Given the description of an element on the screen output the (x, y) to click on. 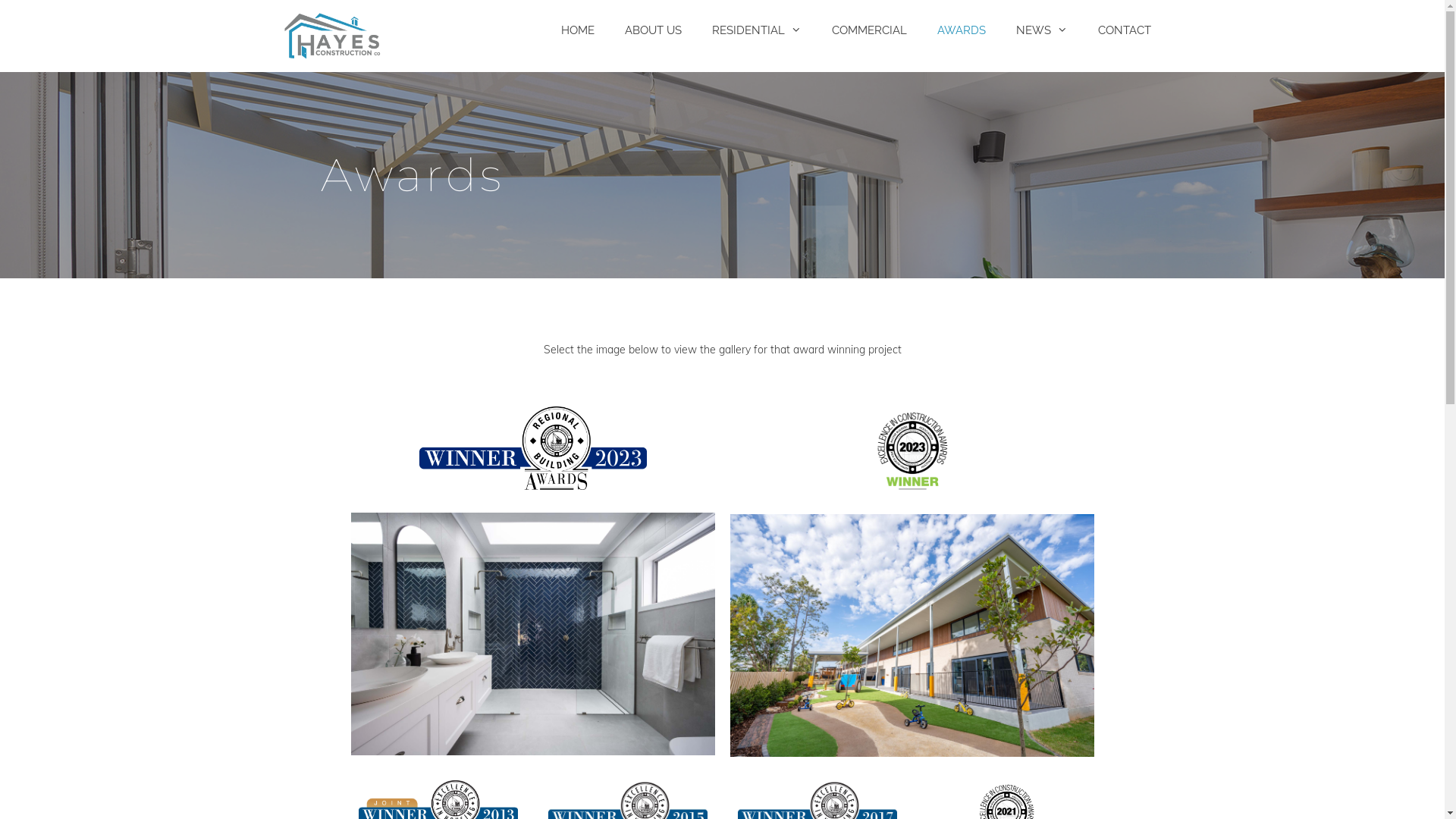
NEWS Element type: text (1041, 30)
Image (12) 3 Element type: hover (911, 635)
CONTACT Element type: text (1124, 30)
COMMERCIAL Element type: text (868, 30)
AWARDS Element type: text (961, 30)
EIC23 Positive Winner Green Element type: hover (911, 456)
EIHA Regional WINNER 2023 Element type: hover (532, 447)
HOME Element type: text (577, 30)
ABOUT US Element type: text (652, 30)
RESIDENTIAL Element type: text (755, 30)
22A Lawson Street MUDGEE Z7S_6538 1 Element type: hover (532, 633)
